Given the description of an element on the screen output the (x, y) to click on. 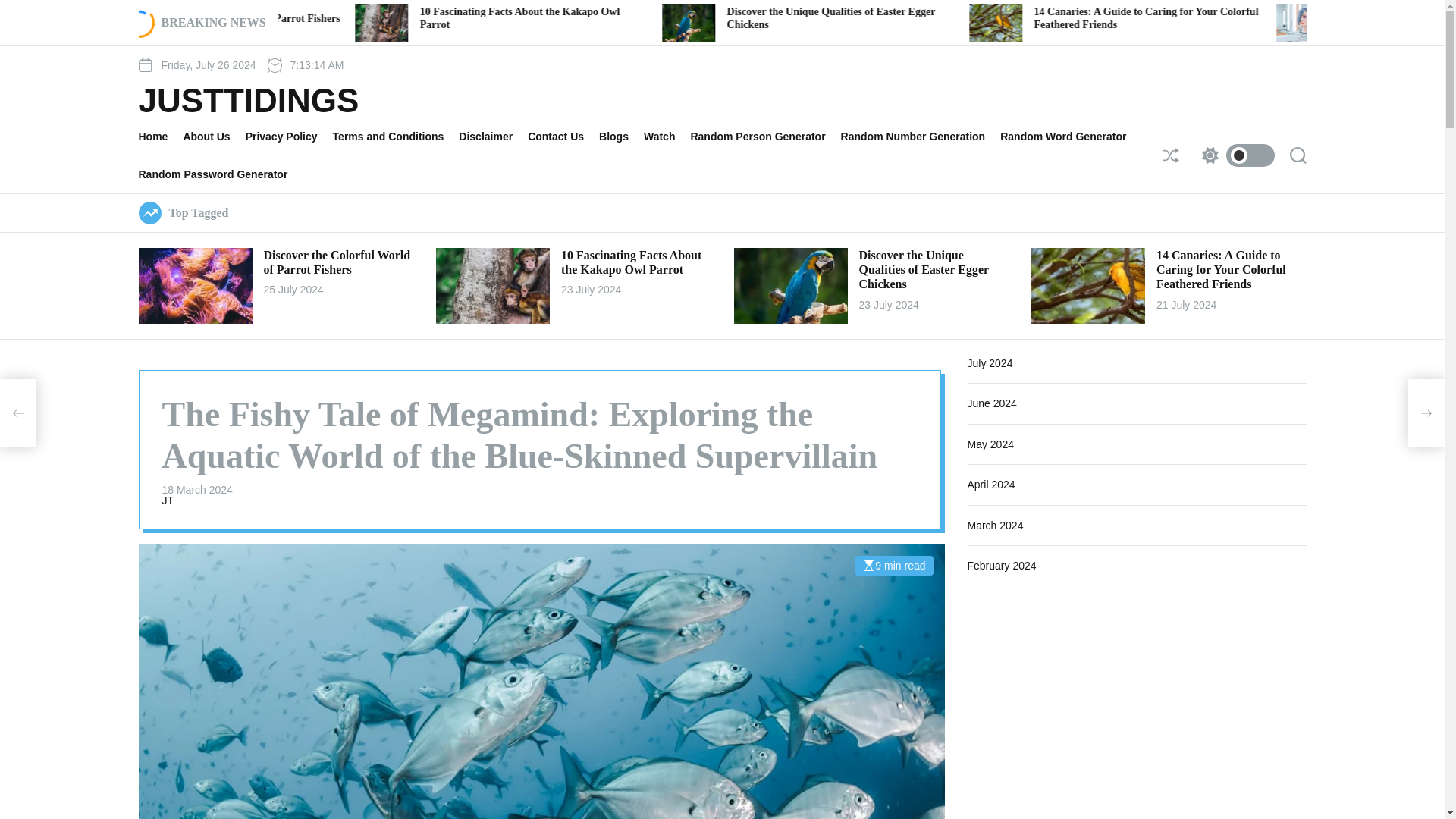
JUSTTIDINGS (248, 100)
Home (160, 136)
10 Fascinating Facts About the Kakapo Owl Parrot (728, 17)
Discover the Unique Qualities of Easter Egger Chickens (1040, 17)
About Us (213, 136)
Discover the Colorful World of Parrot Fishers (446, 18)
